Given the description of an element on the screen output the (x, y) to click on. 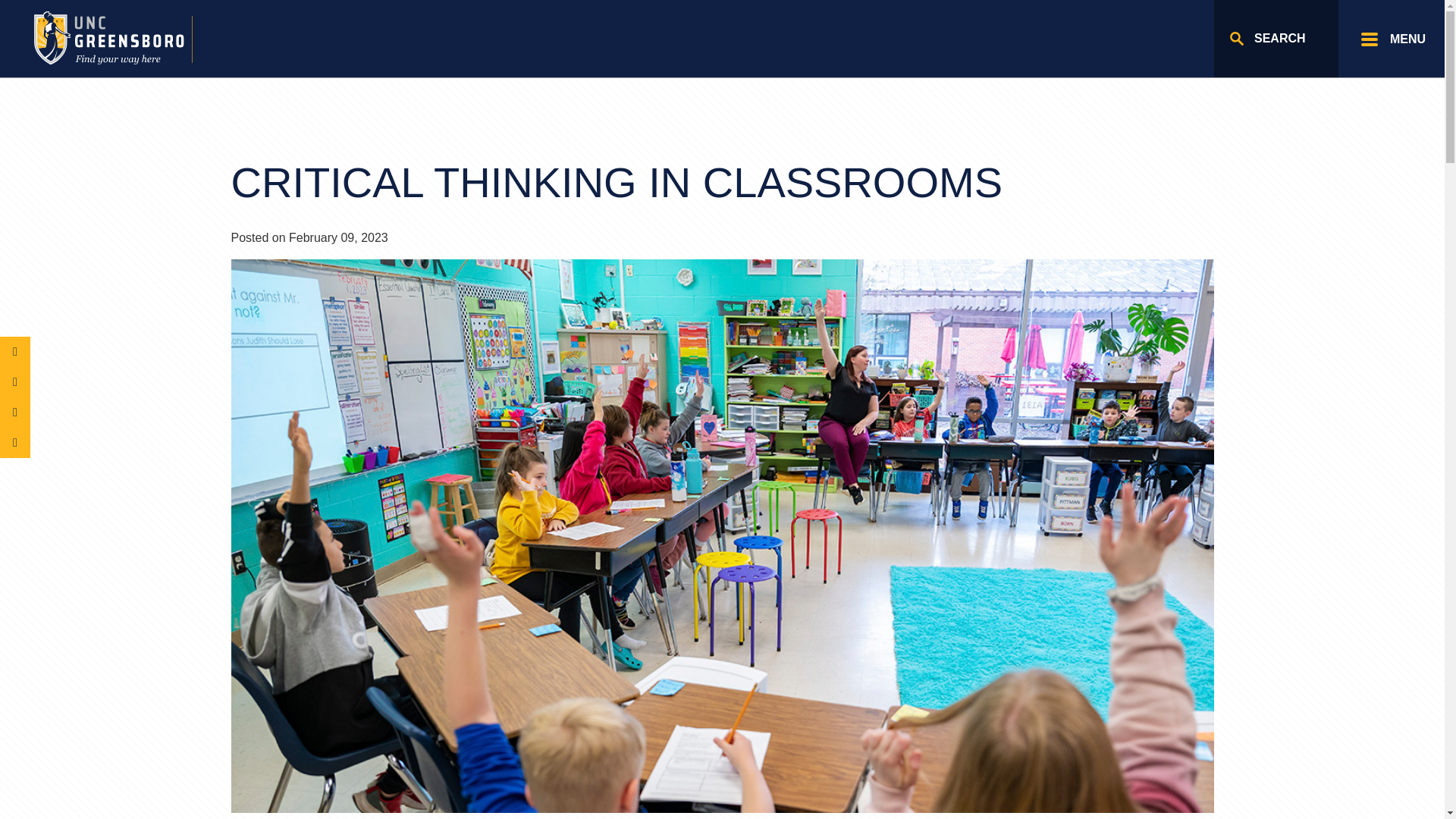
Search (1276, 38)
UNC Greensboro (131, 37)
